Given the description of an element on the screen output the (x, y) to click on. 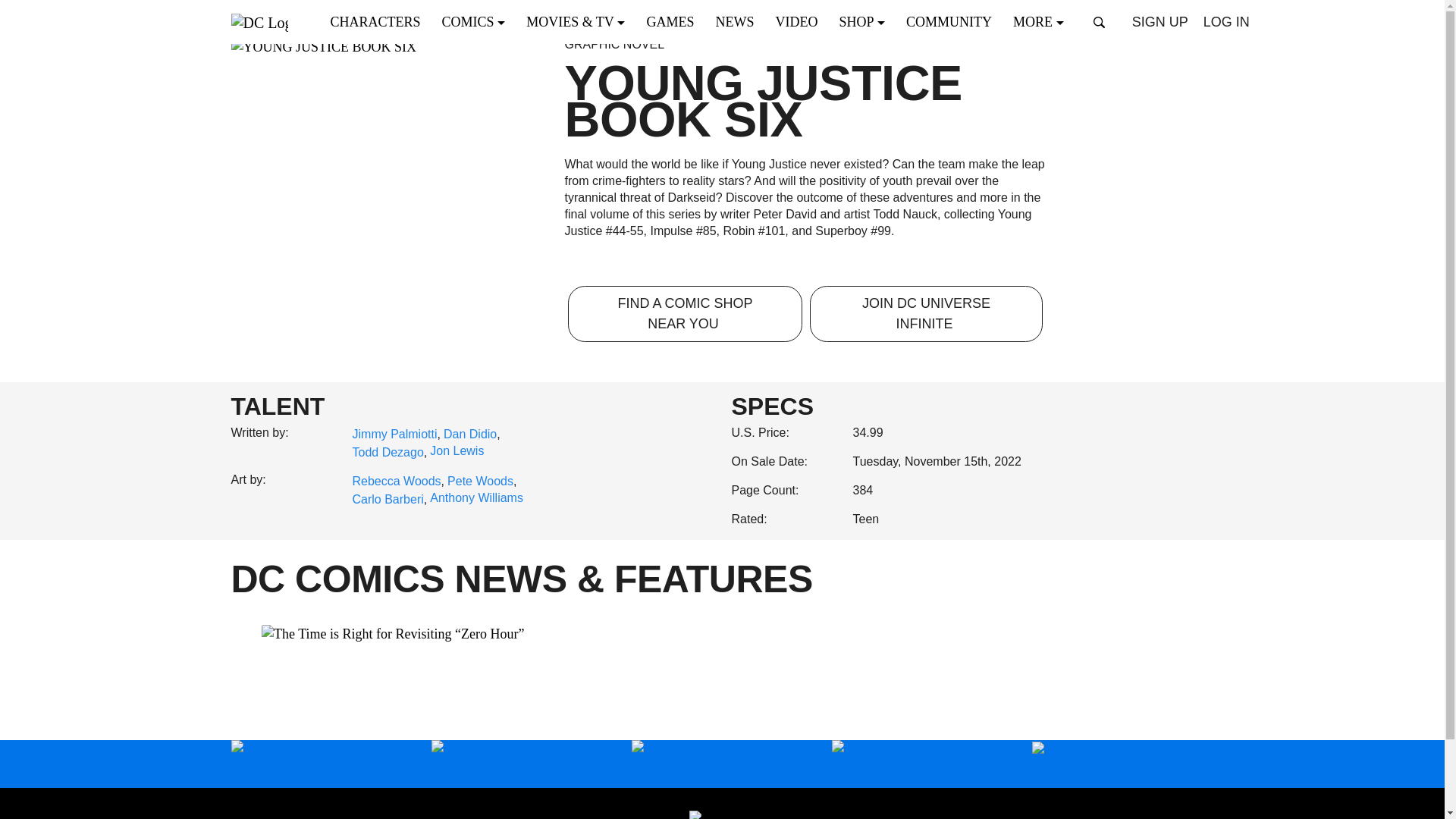
YOUNG JUSTICE BOOK SIX (388, 46)
COMICS (478, 21)
Open search (1099, 22)
CHARACTERS (379, 21)
